Given the description of an element on the screen output the (x, y) to click on. 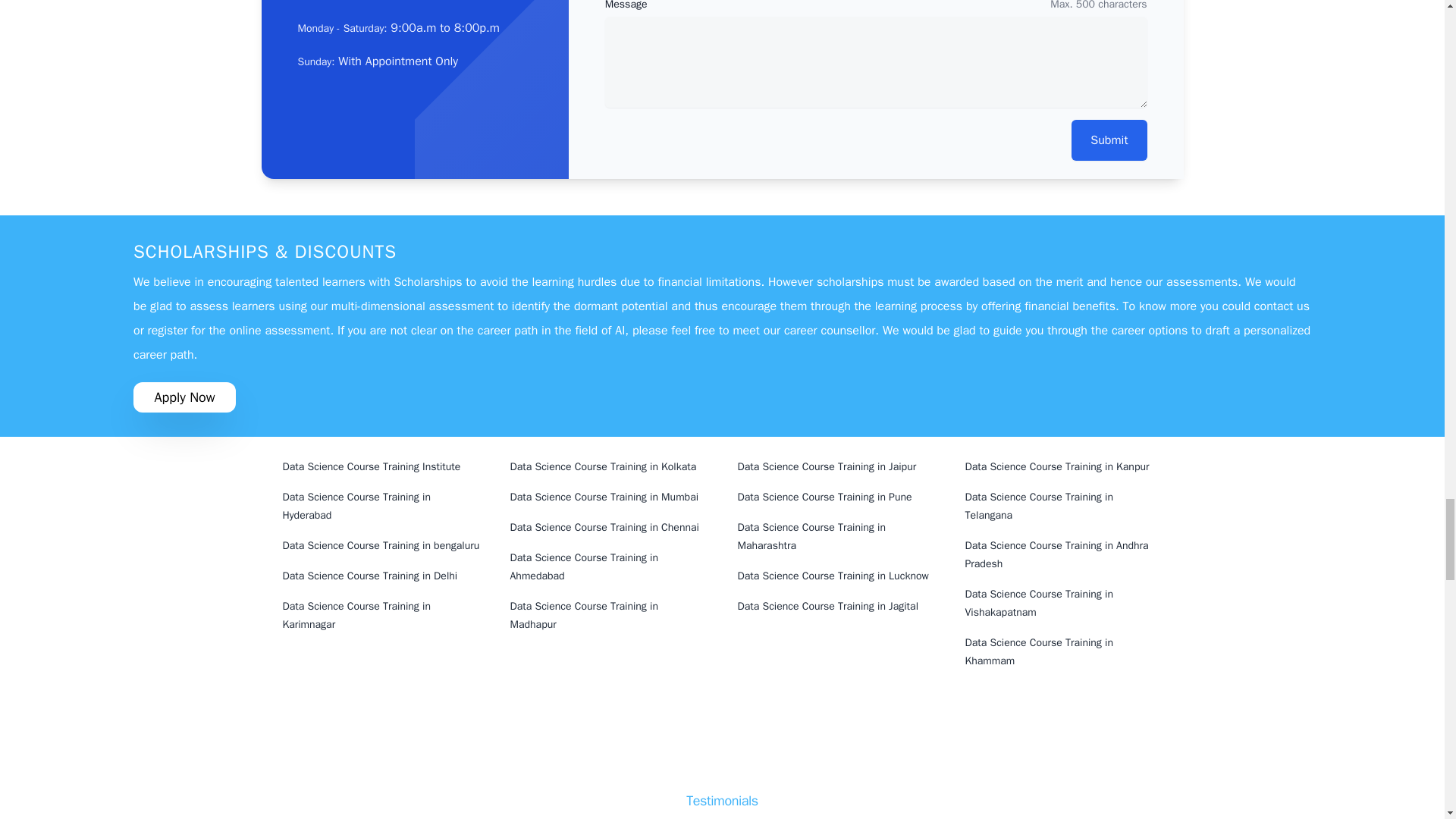
Apply Now (184, 397)
Data Science Course Training Institute (380, 467)
Data Science Course Training in bengaluru (380, 545)
Submit (1109, 139)
Data Science Course Training in Delhi (380, 576)
Data Science Course Training in Hyderabad (380, 506)
